Given the description of an element on the screen output the (x, y) to click on. 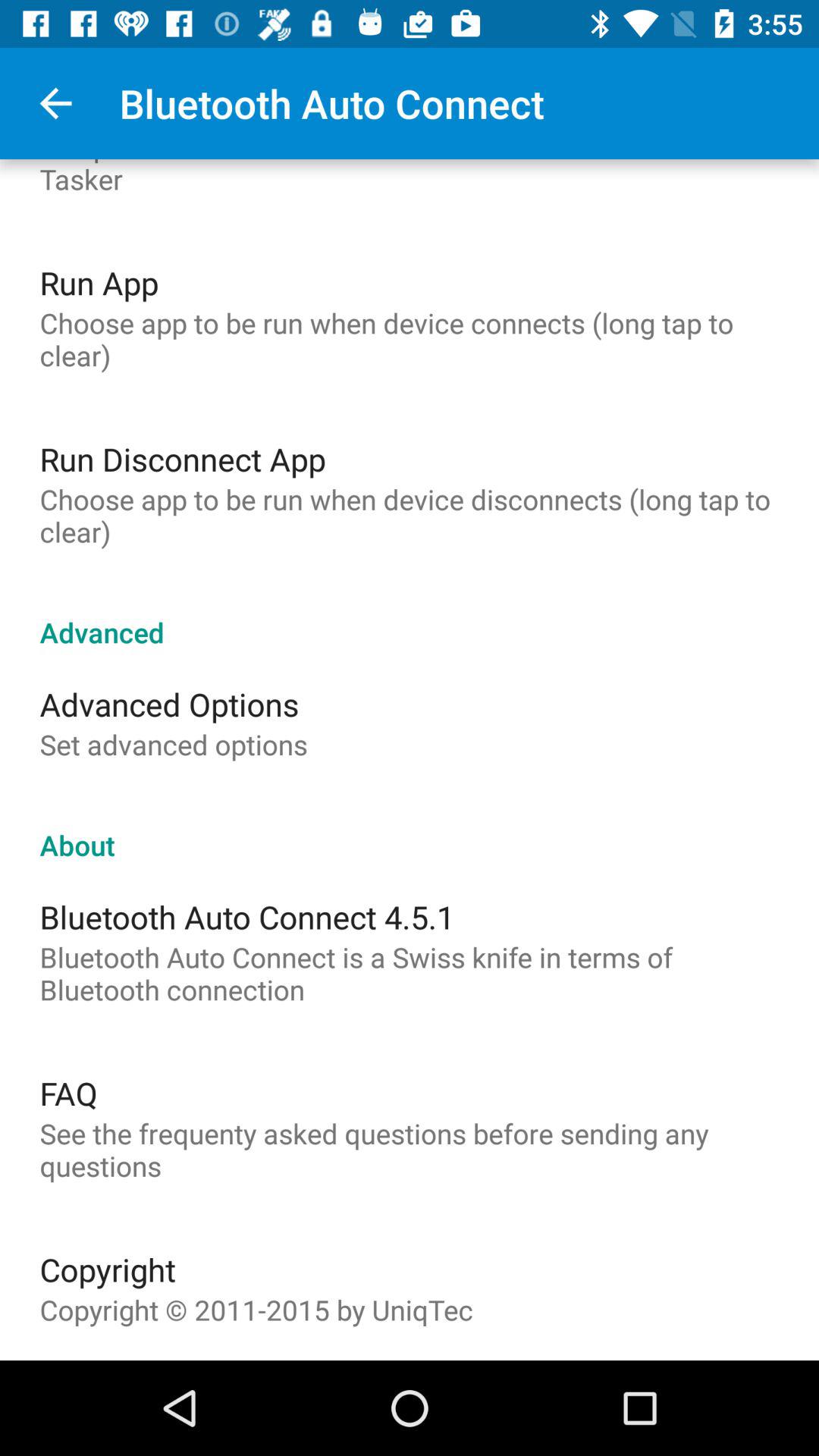
launch icon above the bluetooth auto connect (409, 828)
